Given the description of an element on the screen output the (x, y) to click on. 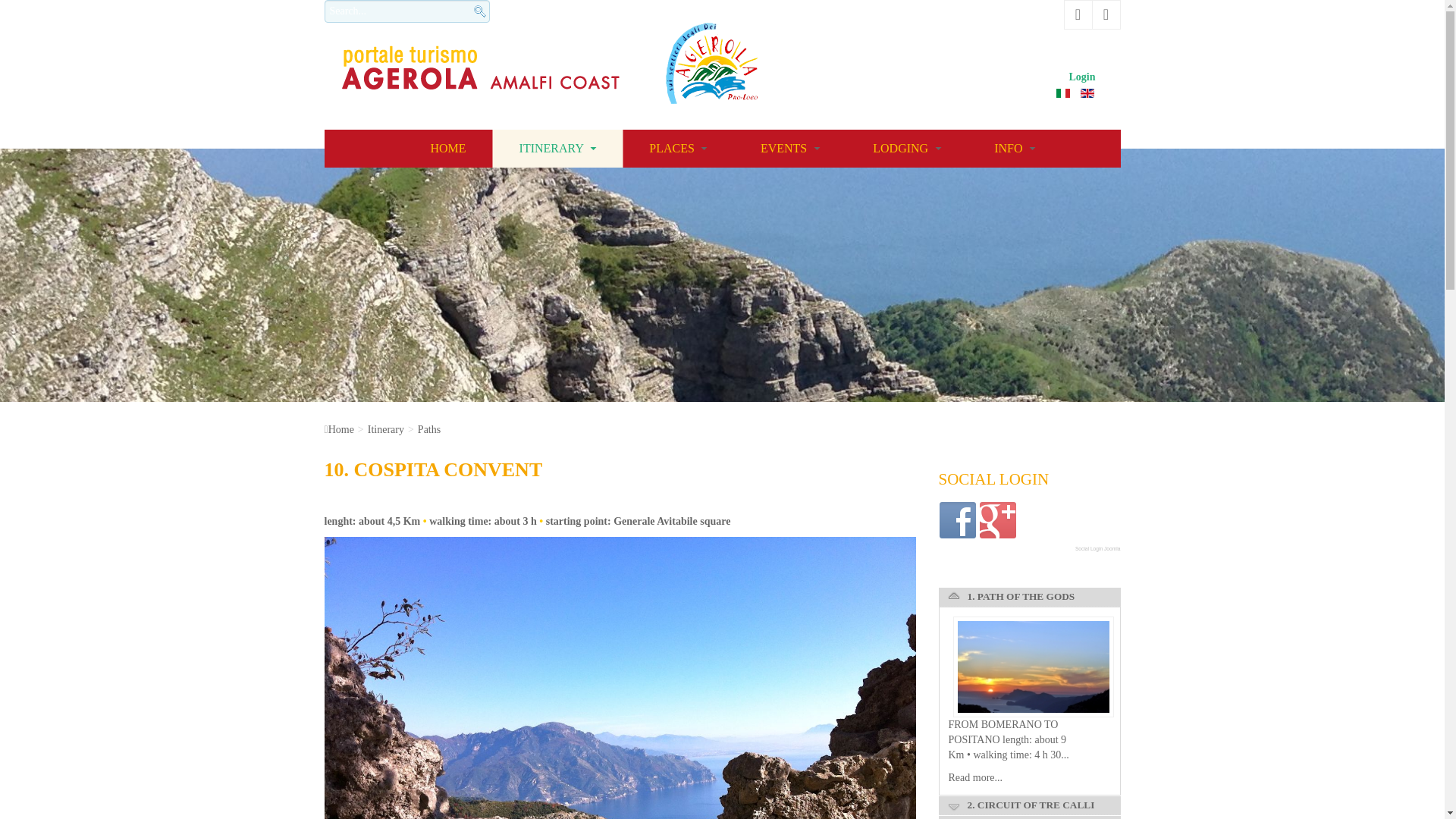
Pro Agerola - Pro Loco di Agerola (711, 64)
Google (997, 520)
PLACES (678, 148)
ITINERARY (558, 148)
 1. PATH OF THE GODS (1032, 666)
 1. PATH OF THE GODS (975, 777)
Login (1082, 76)
Login (1082, 76)
Facebook (957, 520)
HOME (447, 148)
